Given the description of an element on the screen output the (x, y) to click on. 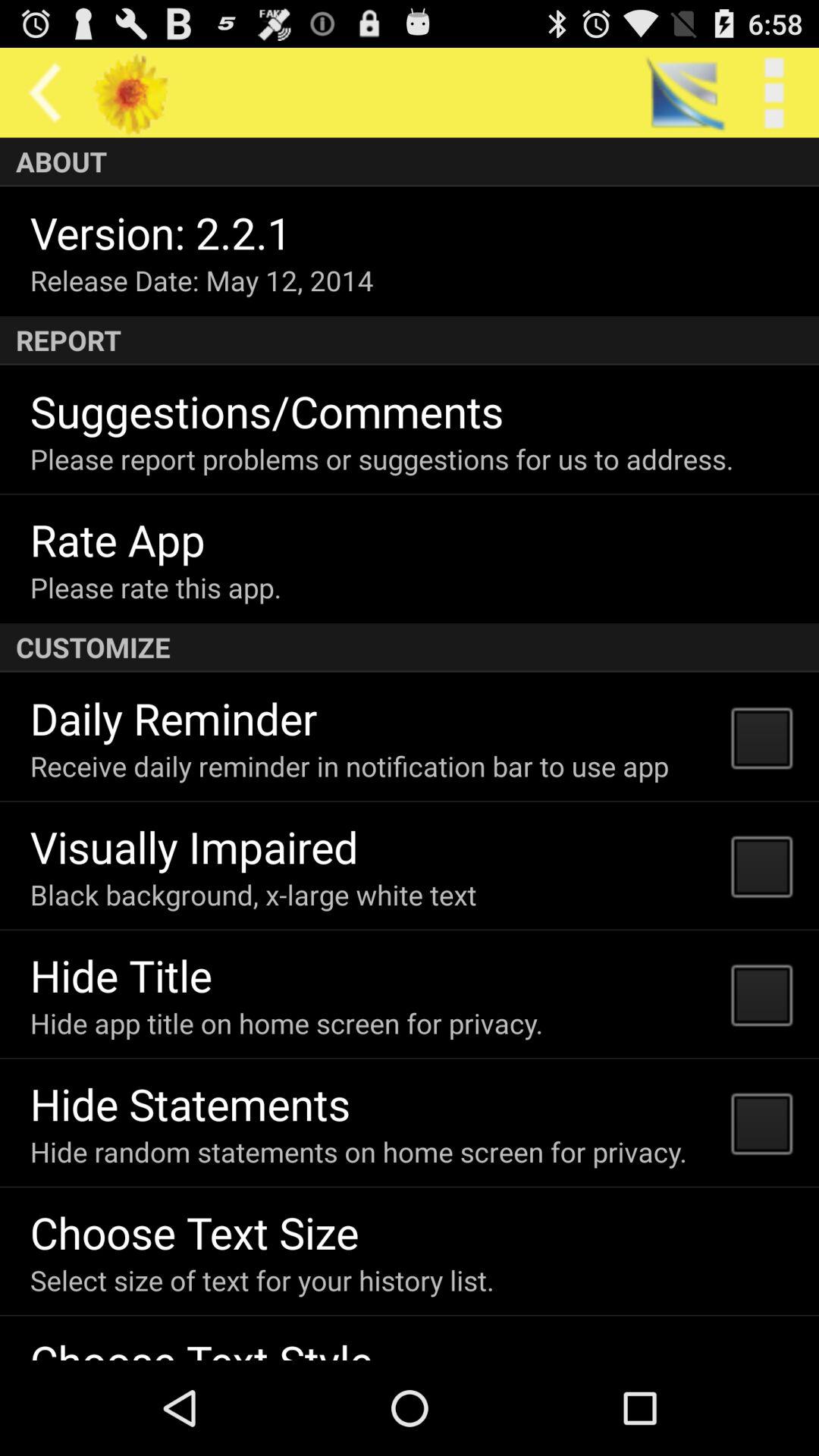
tap icon below version 2 2 icon (201, 280)
